Given the description of an element on the screen output the (x, y) to click on. 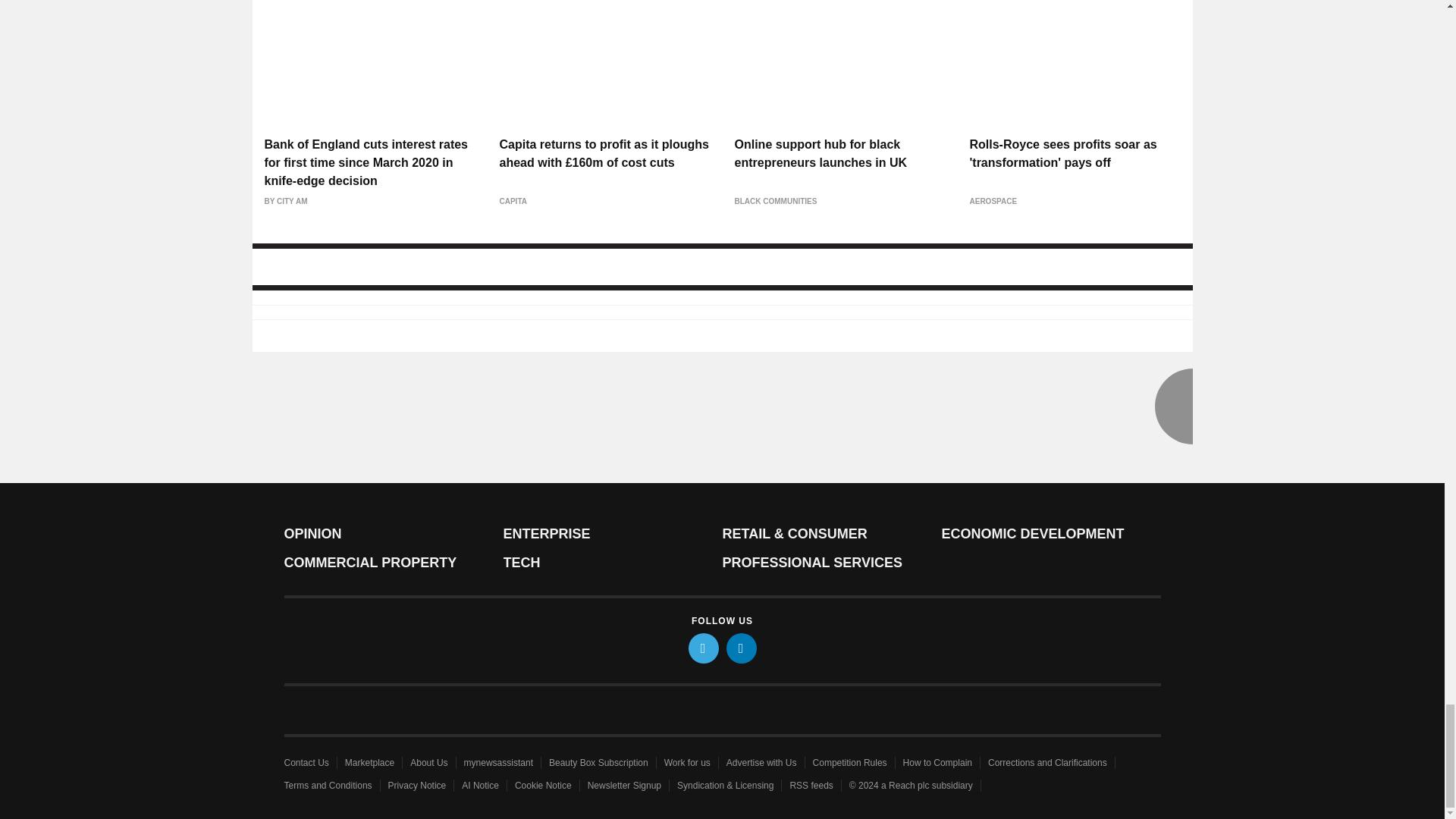
twitter (703, 648)
linkedin (741, 648)
